Given the description of an element on the screen output the (x, y) to click on. 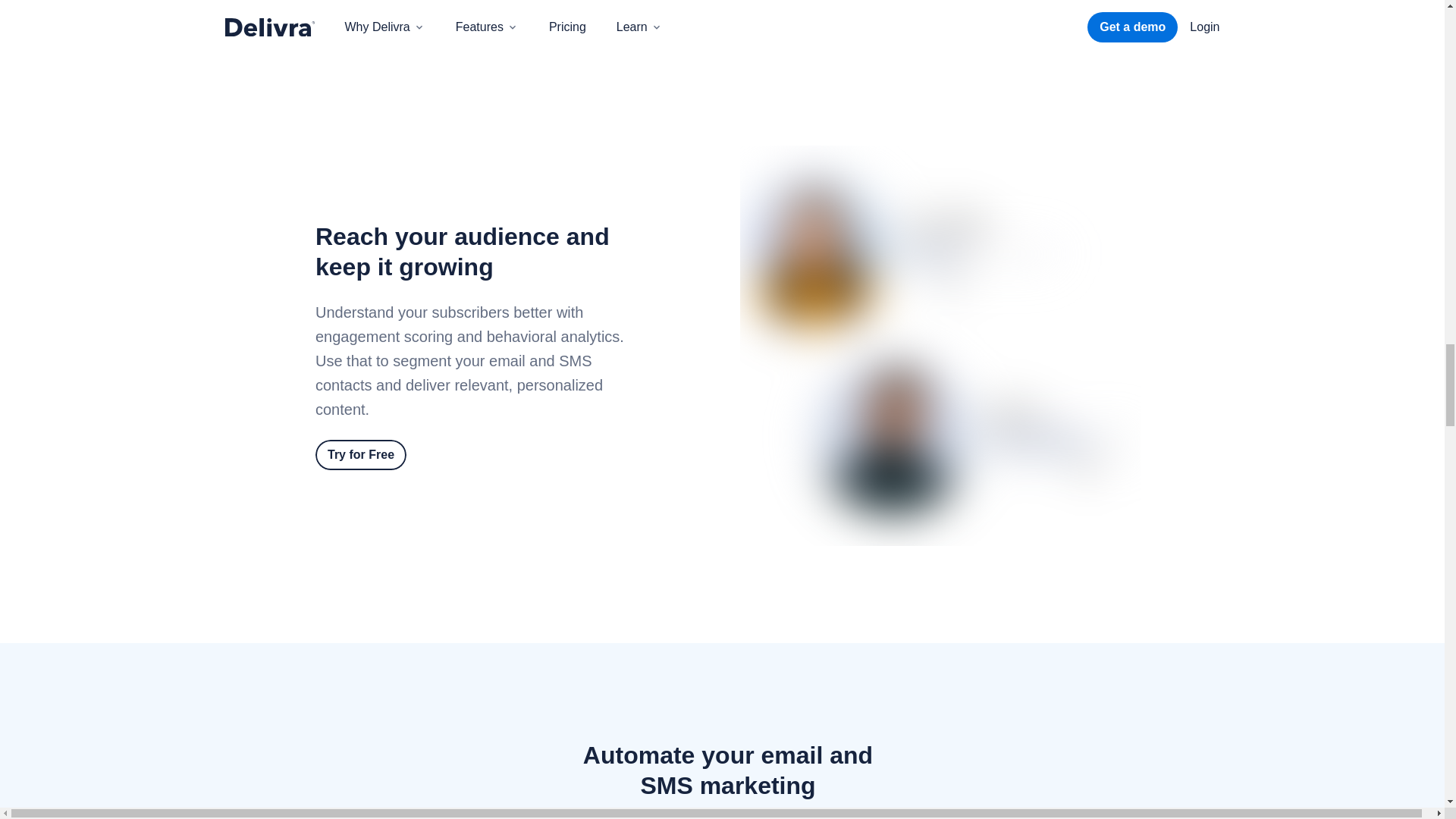
Try for Free (360, 454)
